Given the description of an element on the screen output the (x, y) to click on. 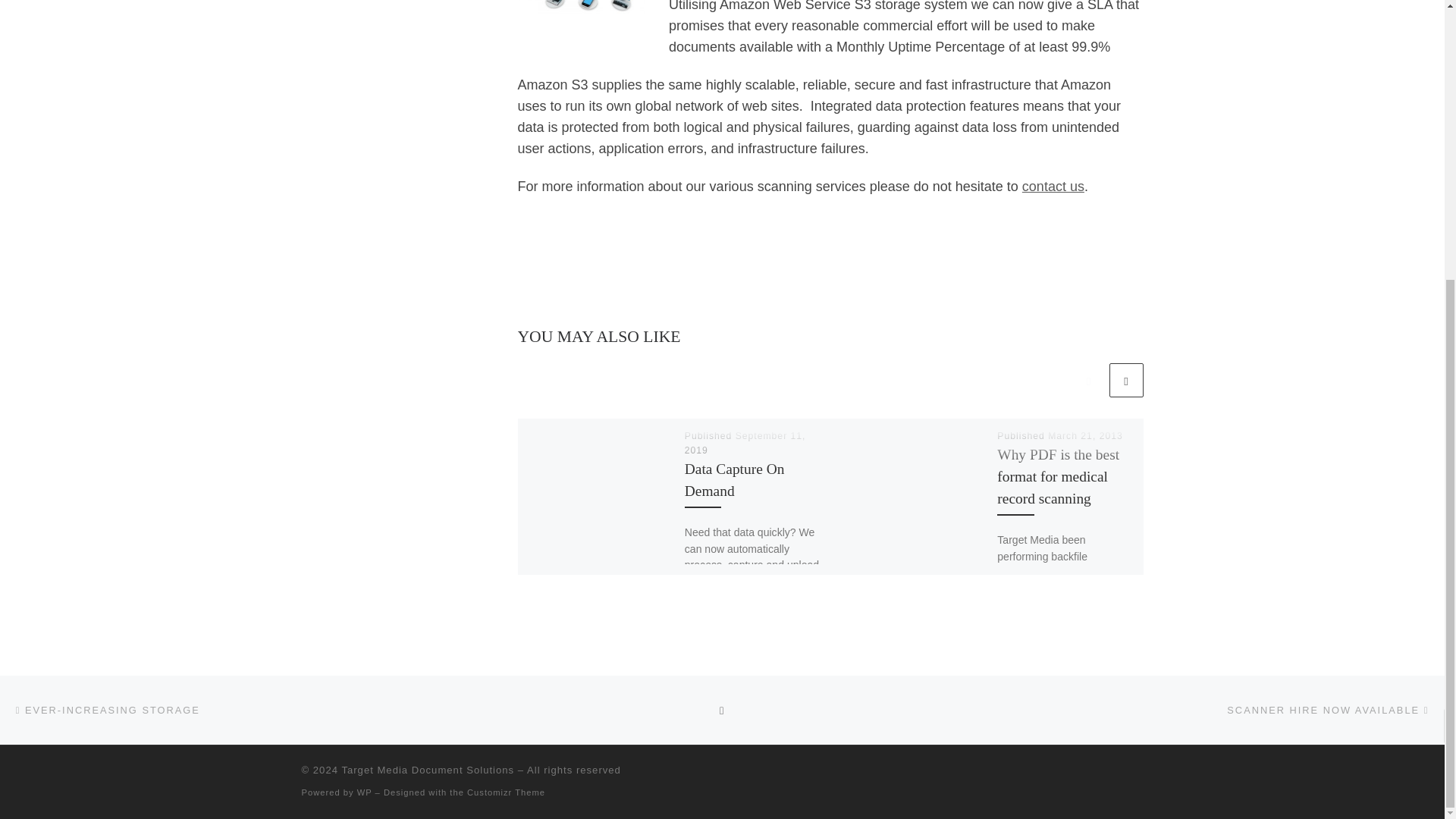
Next related articles (1125, 380)
Target Media Document Solutions (426, 769)
Contact Us (1053, 186)
Previous related articles (1088, 380)
Cloud Storage Ensures Document Integrity (580, 7)
